Given the description of an element on the screen output the (x, y) to click on. 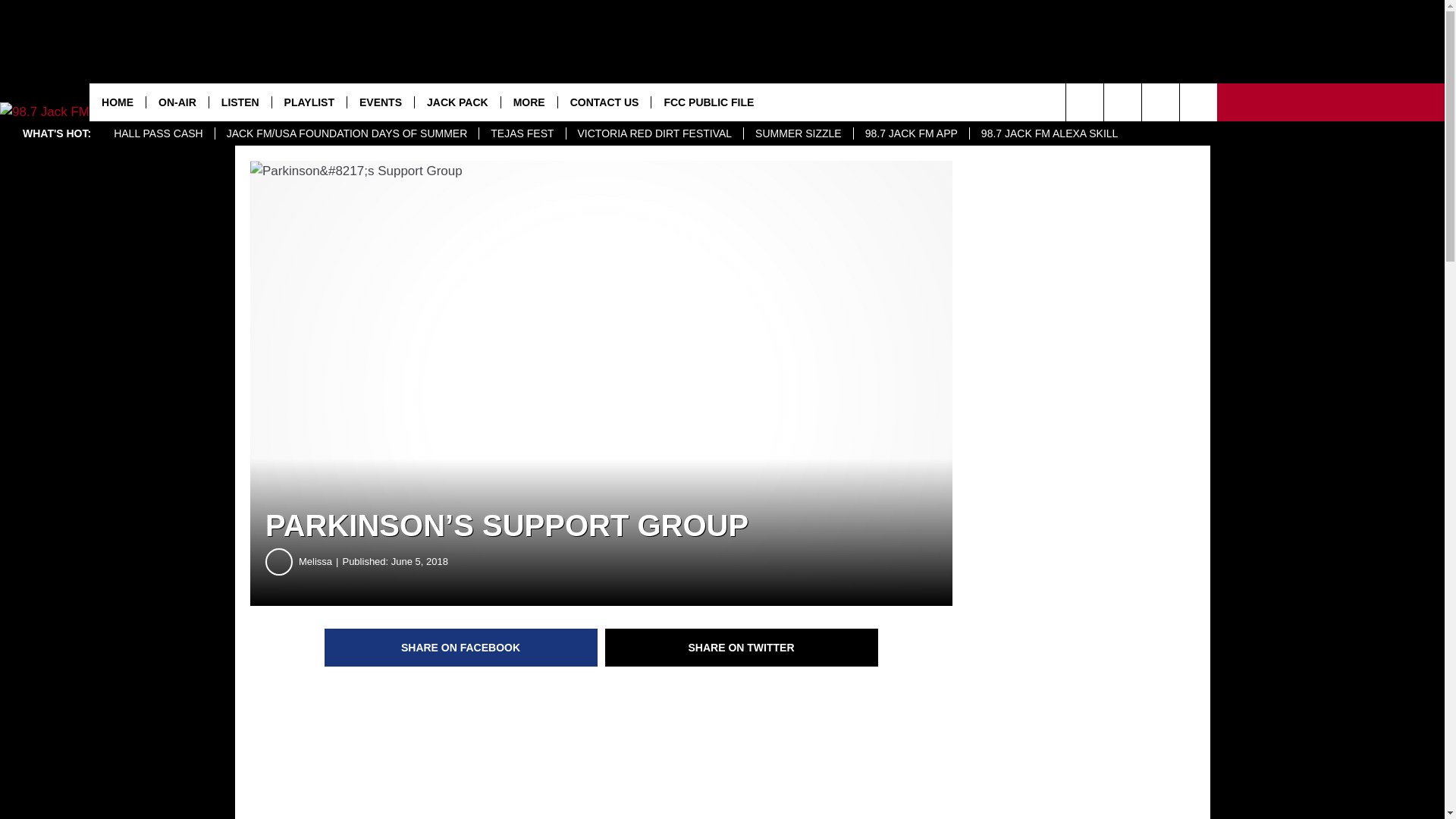
Share on Twitter (741, 647)
FCC PUBLIC FILE (707, 102)
ON-AIR (176, 102)
Share on Facebook (460, 647)
98.7 JACK FM APP (911, 133)
PLAYLIST (308, 102)
JACK PACK (456, 102)
HALL PASS CASH (157, 133)
98.7 JACK FM ALEXA SKILL (1049, 133)
VICTORIA RED DIRT FESTIVAL (655, 133)
